Given the description of an element on the screen output the (x, y) to click on. 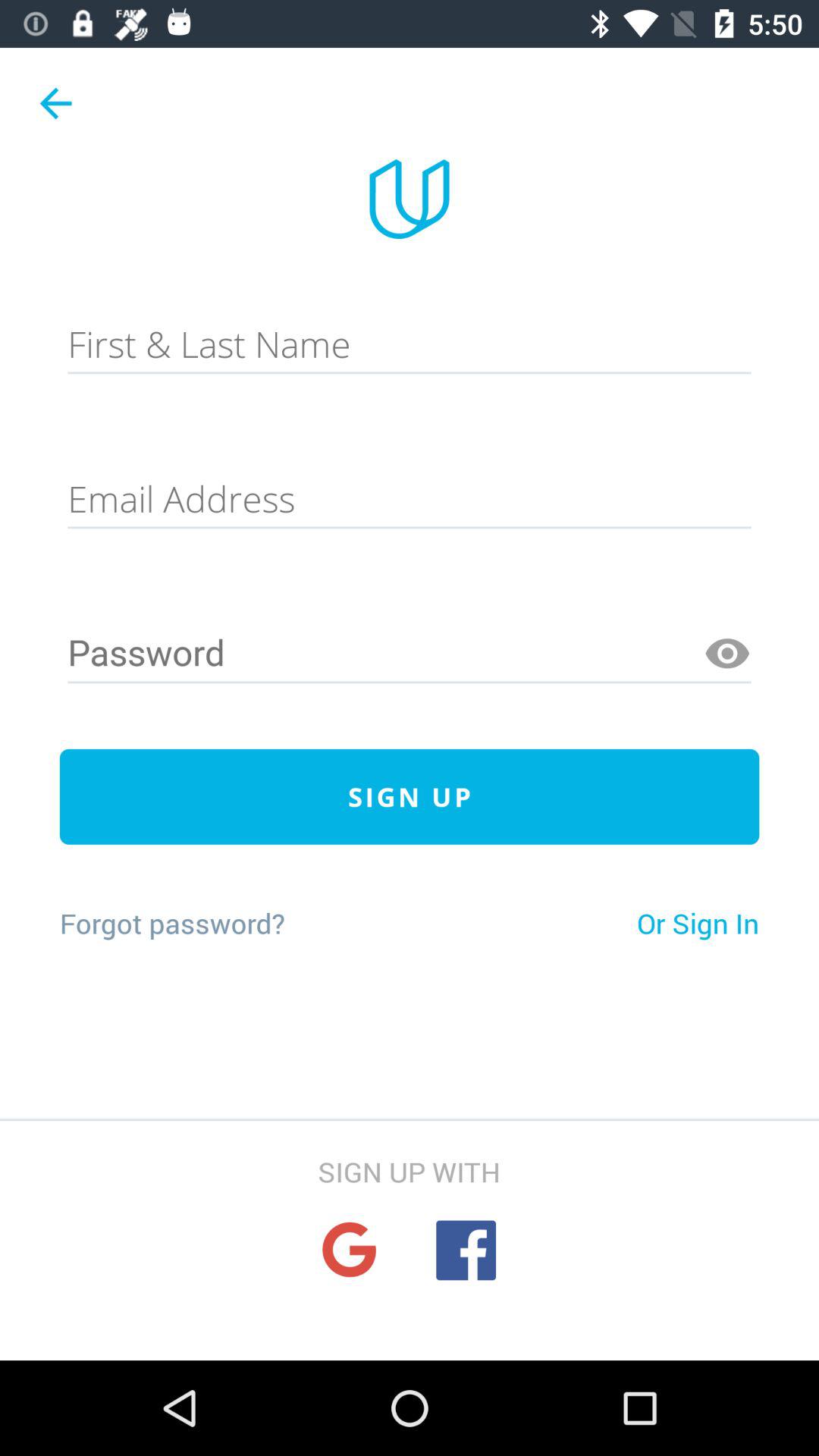
tap item above sign up icon (409, 653)
